Given the description of an element on the screen output the (x, y) to click on. 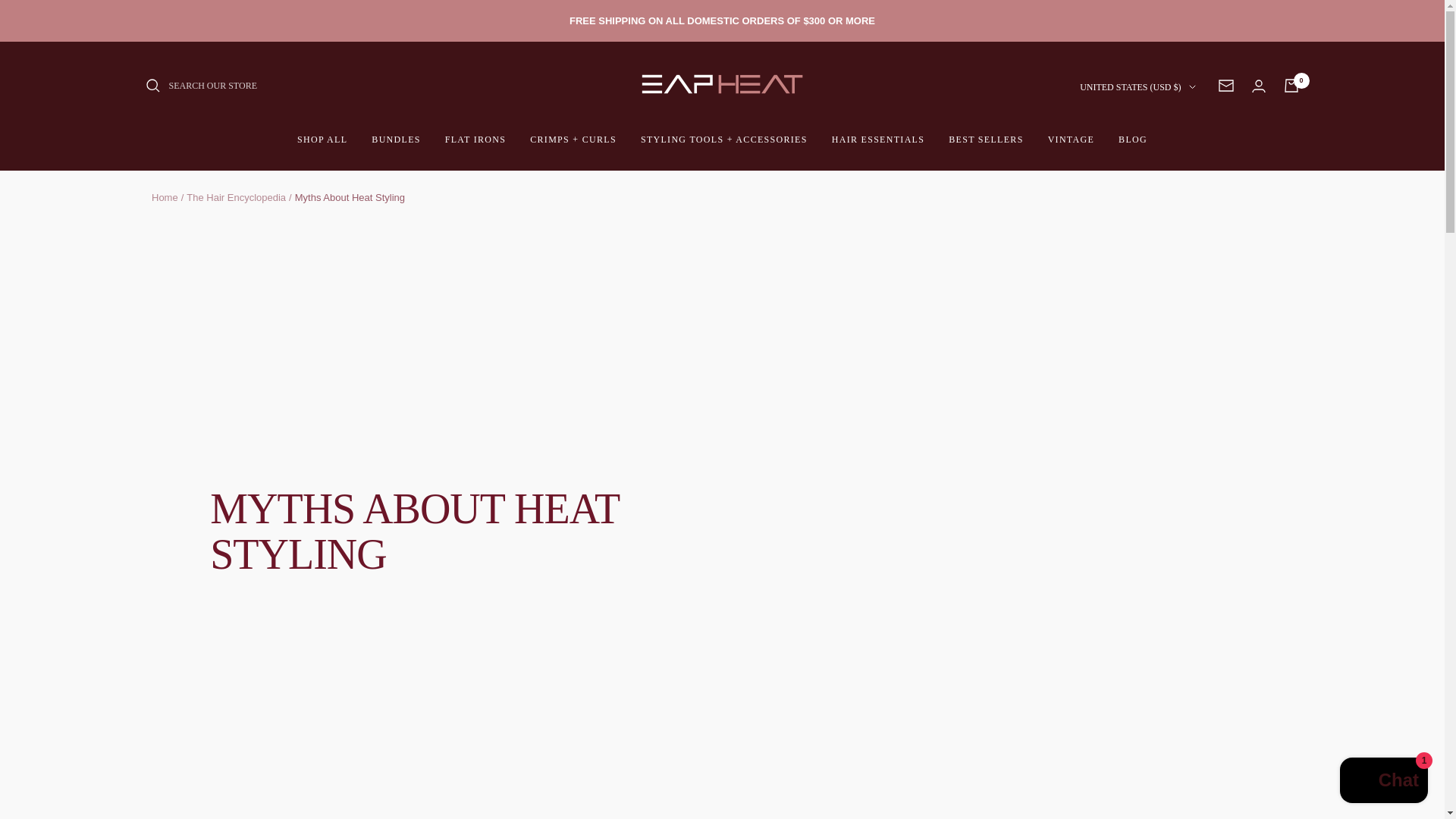
BT (1045, 738)
BH (1045, 537)
BO (1045, 763)
BD (1045, 563)
AG (1045, 312)
AT (1045, 463)
AW (1045, 388)
AD (1045, 238)
AL (1045, 188)
BE (1045, 638)
BM (1045, 713)
DZ (1045, 212)
AU (1045, 437)
AF (1045, 137)
AO (1045, 262)
